Given the description of an element on the screen output the (x, y) to click on. 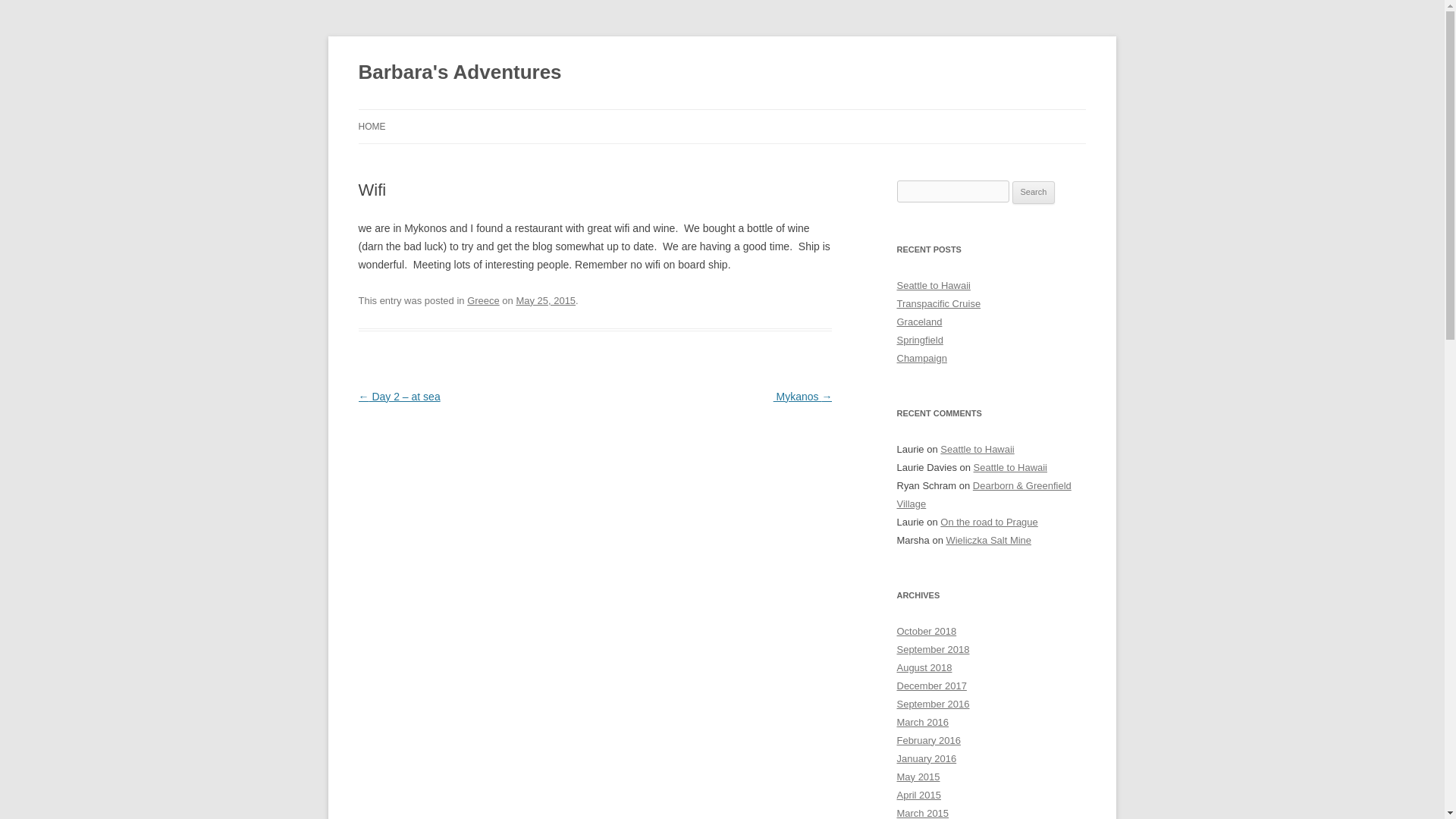
6:51 AM (545, 300)
Wieliczka Salt Mine (987, 540)
On the road to Prague (989, 521)
April 2015 (918, 794)
September 2016 (932, 704)
May 2015 (917, 776)
May 25, 2015 (545, 300)
Springfield (919, 339)
Seattle to Hawaii (1010, 467)
Search (1033, 191)
